Given the description of an element on the screen output the (x, y) to click on. 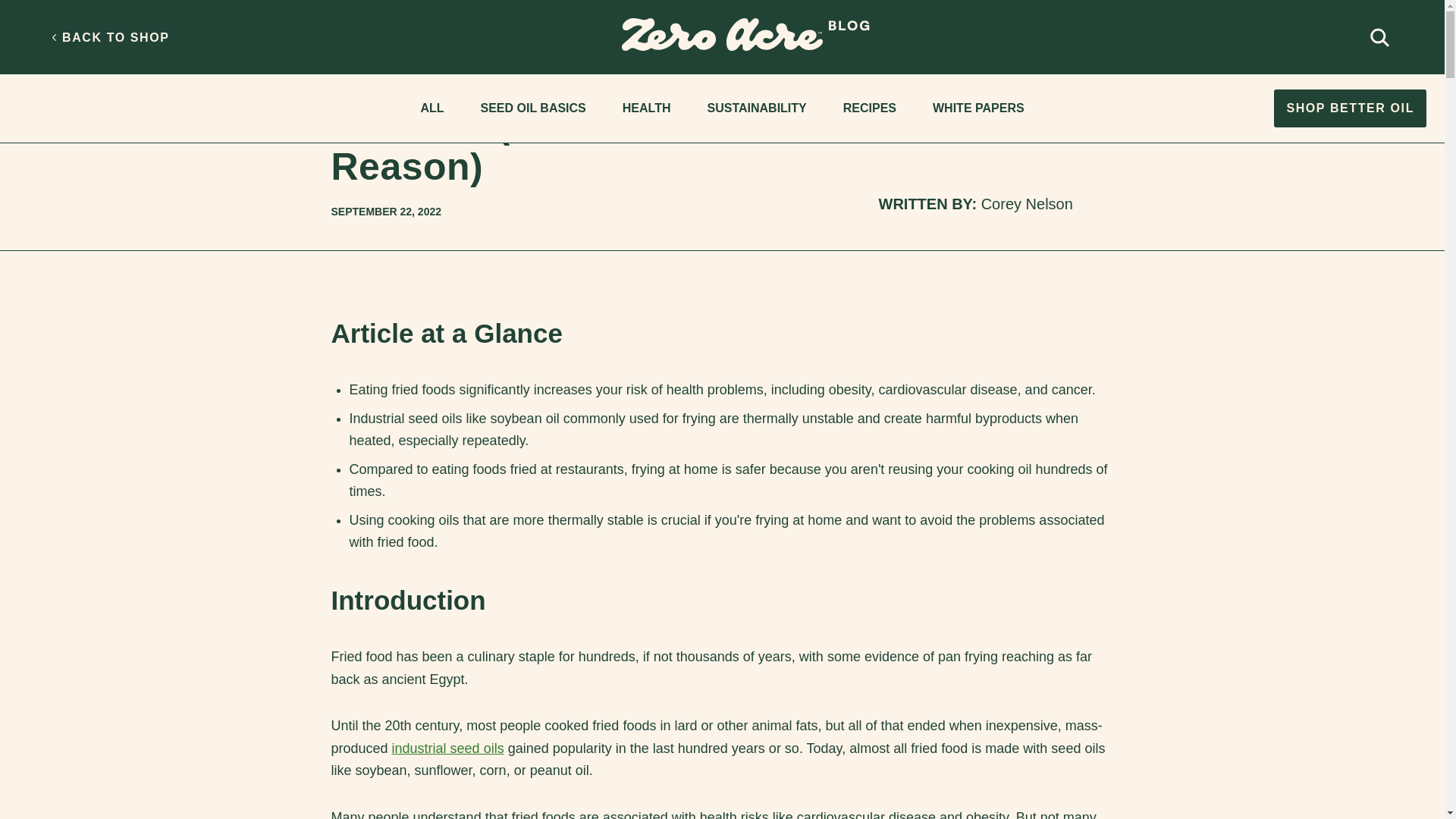
industrial seed oils (447, 748)
BACK TO SHOP (112, 38)
SUSTAINABILITY (756, 108)
HEALTH (351, 45)
WHITE PAPERS (978, 108)
HEALTH (646, 108)
SEED OIL BASICS (531, 108)
RECIPES (869, 108)
SHOP BETTER OIL (1350, 108)
